Given the description of an element on the screen output the (x, y) to click on. 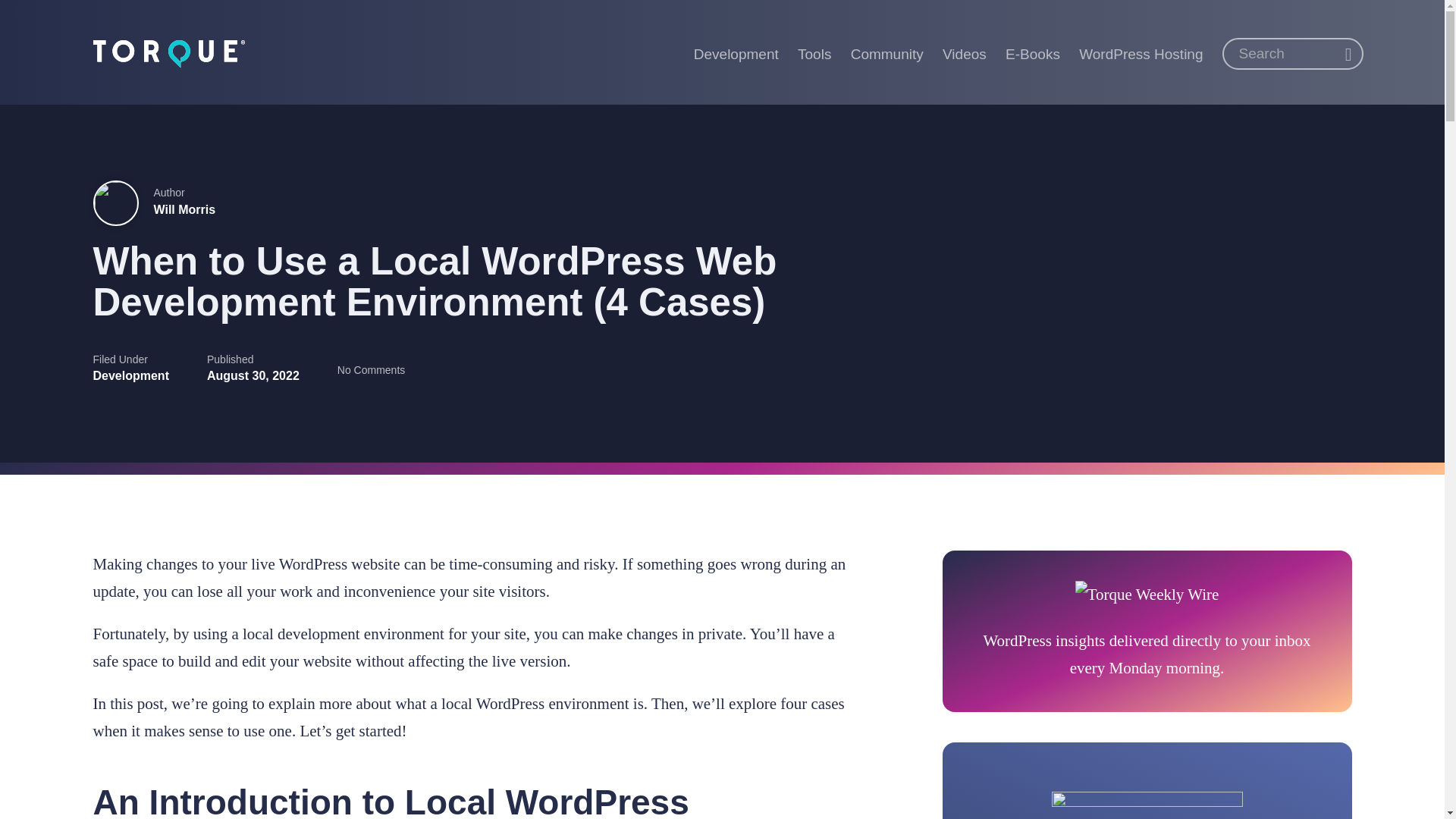
Torque (168, 52)
Development (130, 375)
Development (736, 52)
Will Morris (183, 209)
WordPress Hosting (1141, 52)
